Given the description of an element on the screen output the (x, y) to click on. 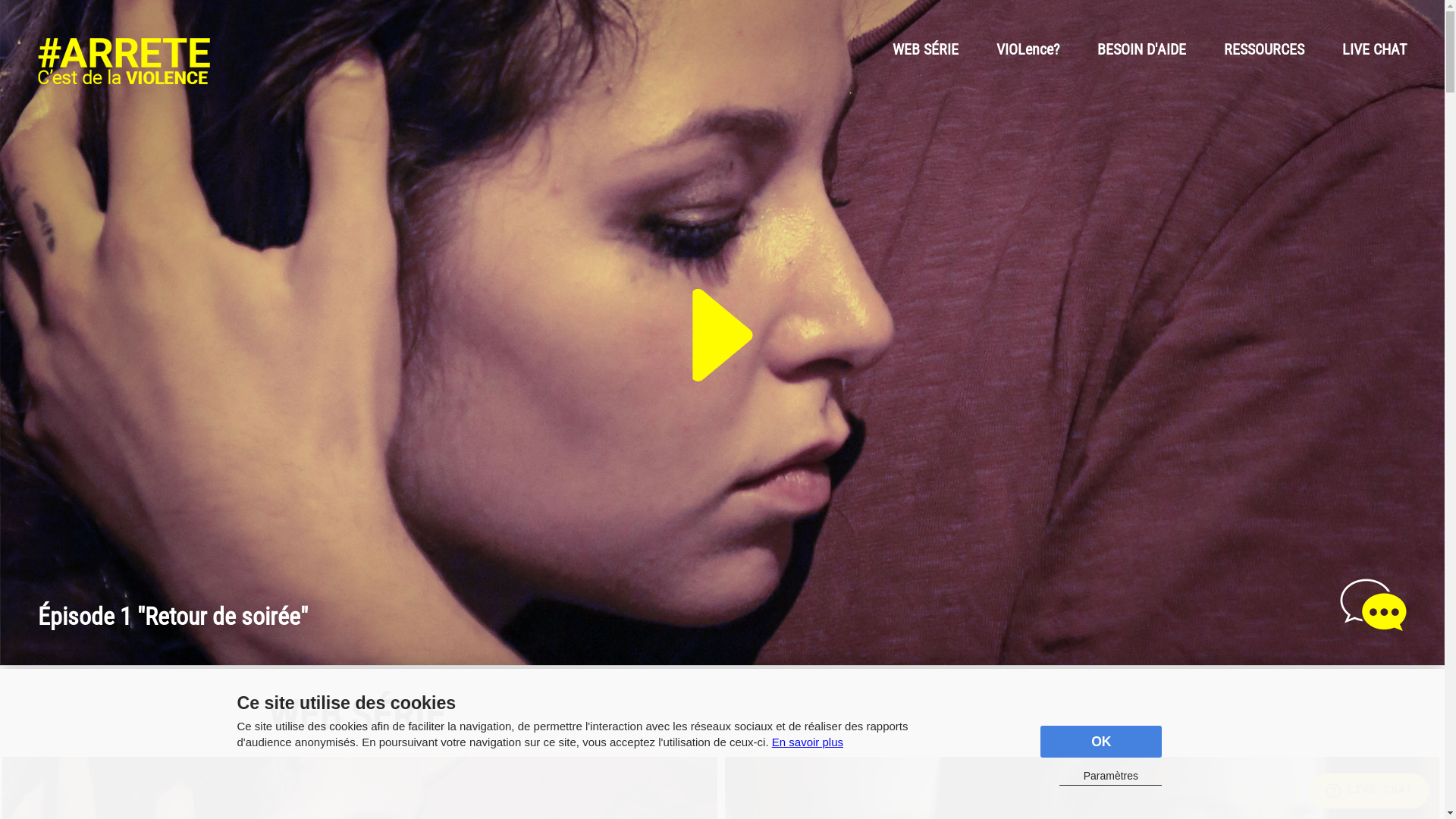
OK Element type: text (1100, 741)
RESSOURCES Element type: text (1263, 49)
VIOLence? Element type: text (1027, 49)
LIVE CHAT Element type: text (1374, 49)
BESOIN D'AIDE Element type: text (1141, 49)
En savoir plus Element type: text (807, 741)
